Given the description of an element on the screen output the (x, y) to click on. 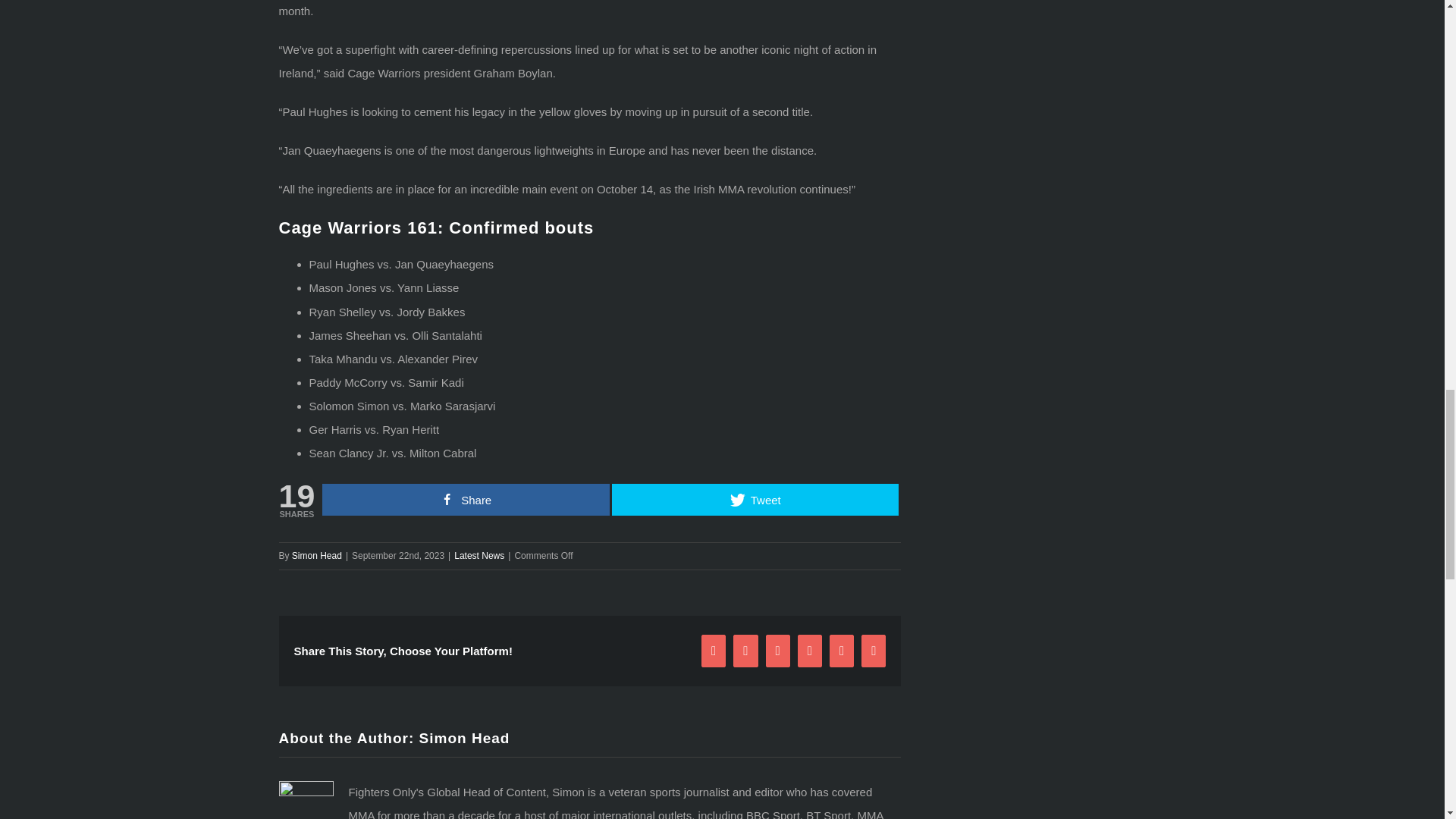
Twitter (745, 650)
Share (465, 499)
Email (873, 650)
Facebook (713, 650)
Pinterest (841, 650)
LinkedIn (809, 650)
Posts by Simon Head (465, 738)
Reddit (777, 650)
Pinterest (841, 650)
Twitter (745, 650)
Reddit (777, 650)
Latest News (478, 555)
Tweet (755, 499)
LinkedIn (809, 650)
Facebook (713, 650)
